Given the description of an element on the screen output the (x, y) to click on. 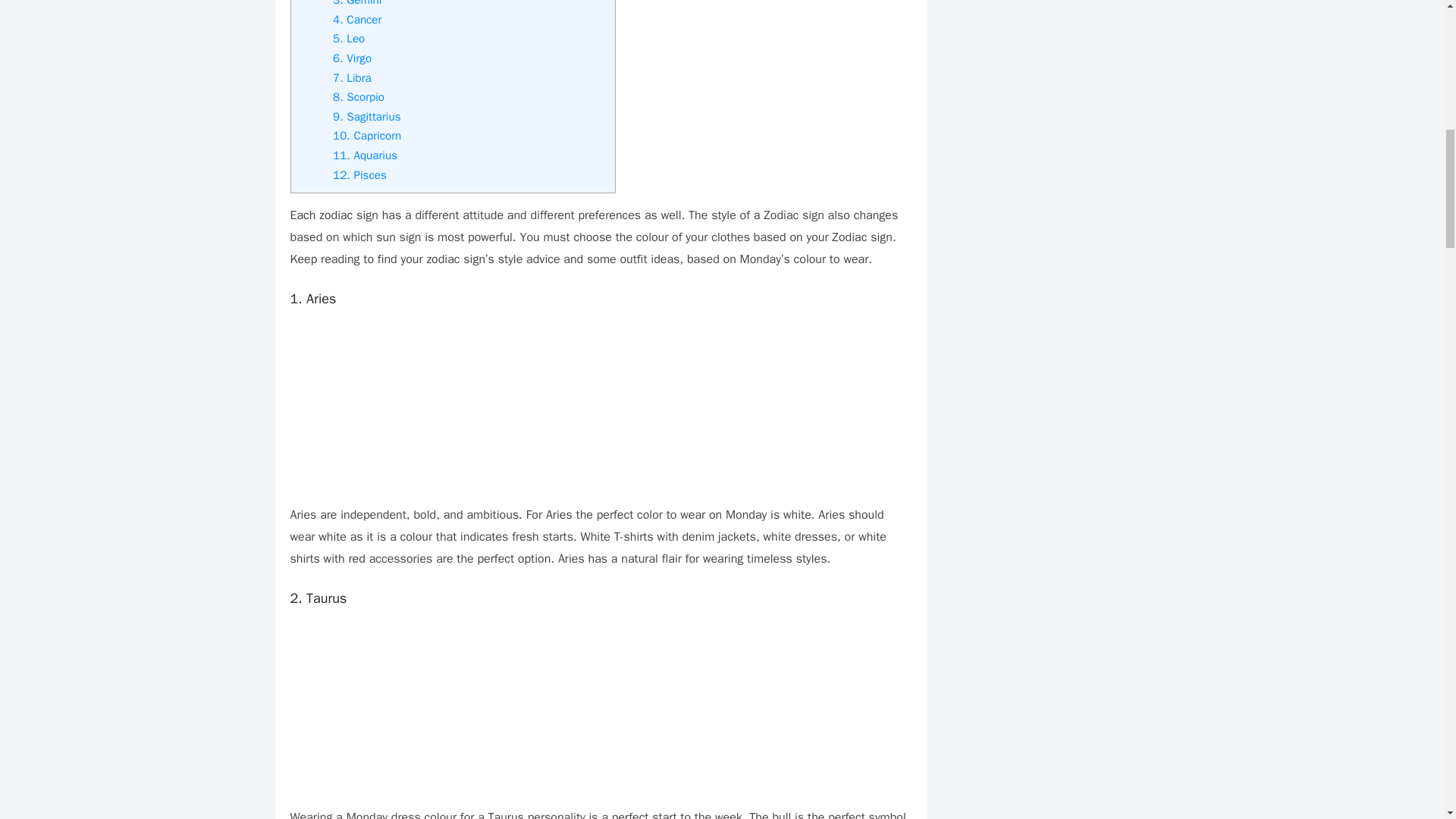
6. Virgo (352, 58)
7. Libra (352, 77)
11. Aquarius (365, 155)
8. Scorpio (358, 96)
12. Pisces (360, 174)
3. Gemini (357, 3)
5. Leo (349, 38)
9. Sagittarius (366, 116)
10. Capricorn  (368, 135)
4. Cancer (357, 19)
